Given the description of an element on the screen output the (x, y) to click on. 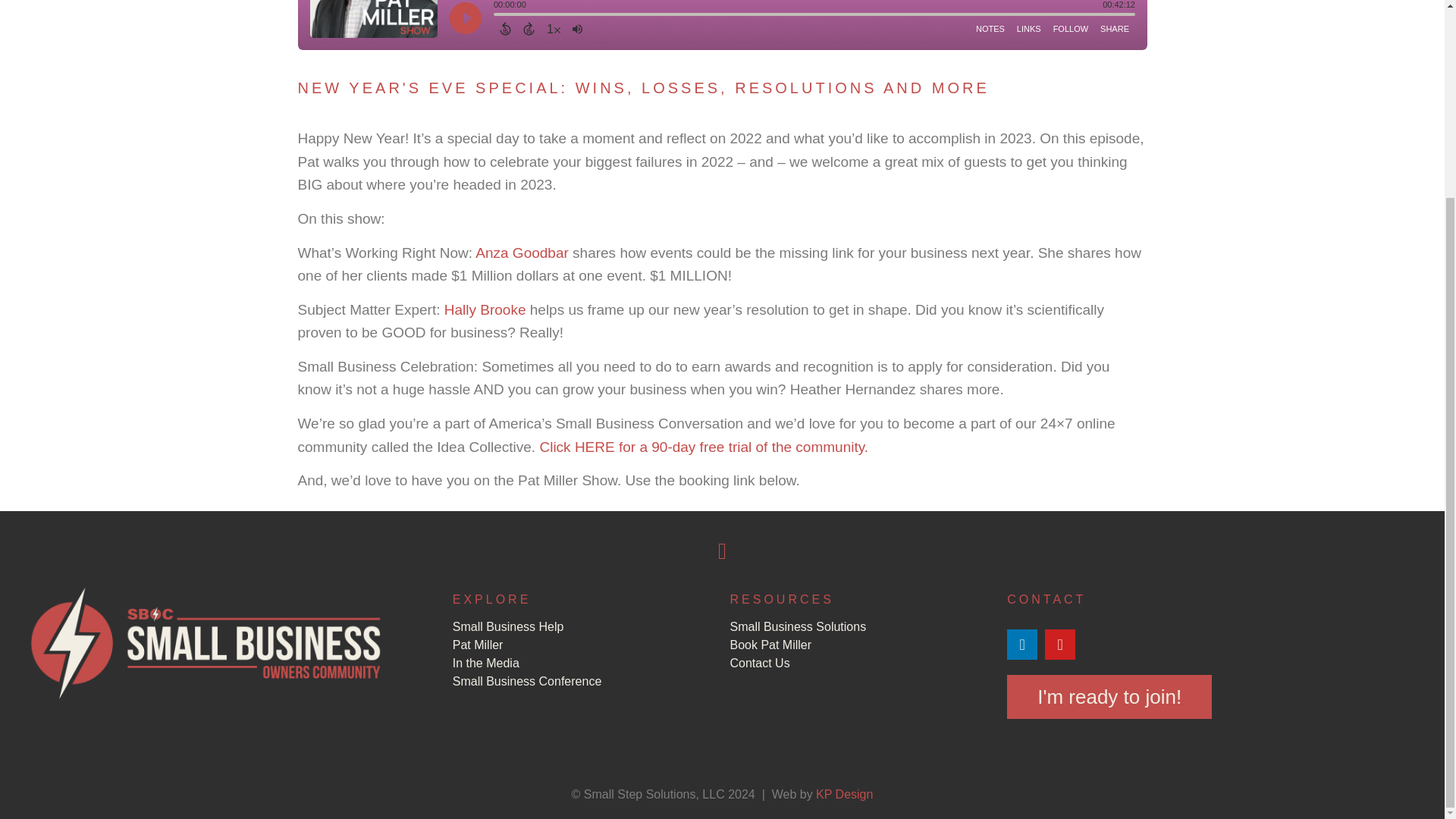
Pat Miller (583, 645)
I'm ready to join! (1109, 696)
Hally Brooke (484, 309)
KP Design (843, 793)
Anza Goodbar (522, 252)
Small Business Help (583, 626)
Click HERE for a 90-day free trial of the community. (702, 446)
Book Pat Miller (860, 645)
In the Media (583, 663)
Small Business Conference (583, 681)
Contact Us (860, 663)
Small Business Solutions (860, 626)
